Given the description of an element on the screen output the (x, y) to click on. 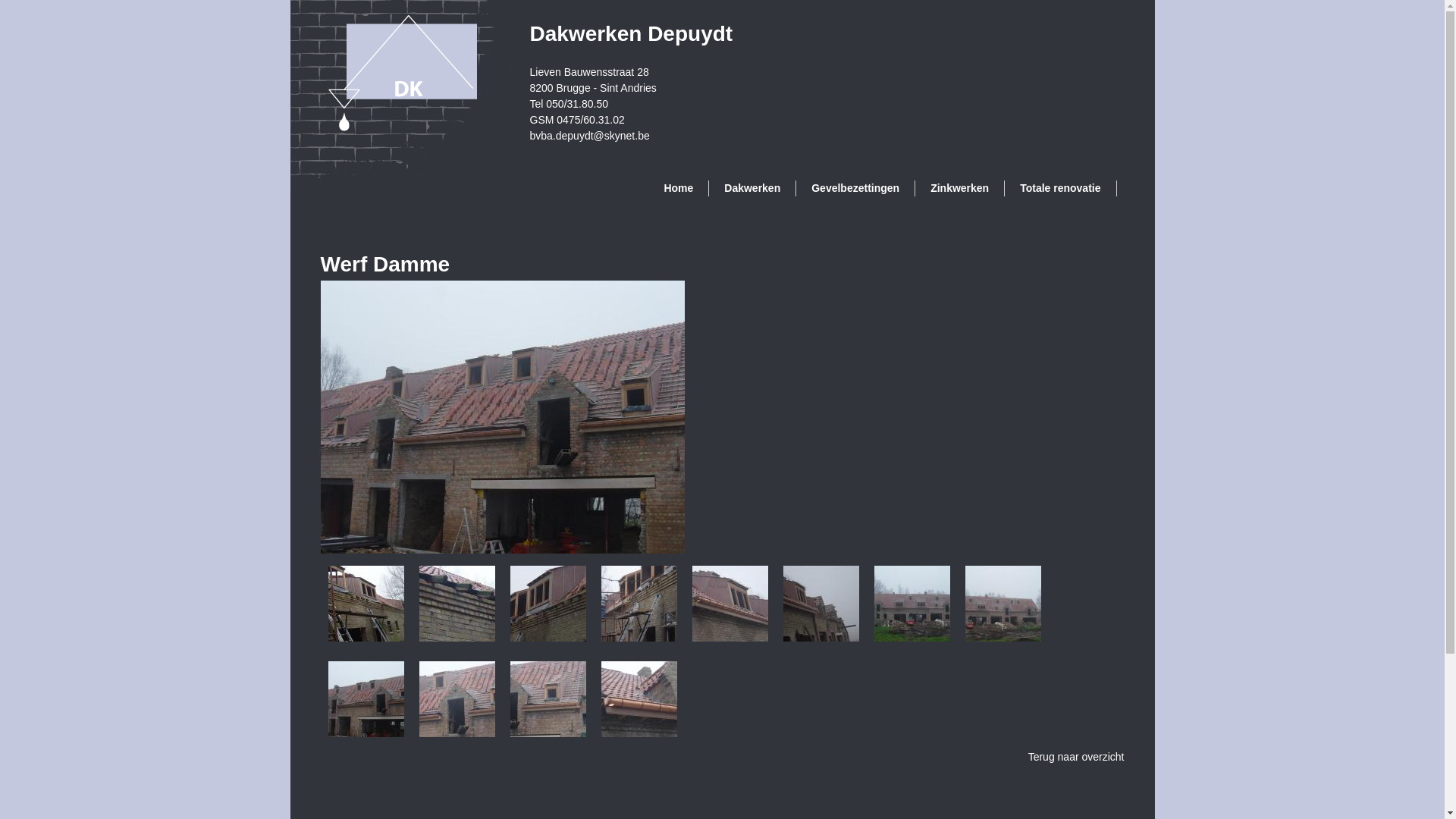
Gevelbezettingen Element type: text (855, 188)
bvba.depuydt@skynet.be Element type: text (589, 134)
Werf Damme Element type: hover (502, 548)
Zinkwerken Element type: text (959, 188)
Werf Damme Element type: hover (456, 732)
Werf Damme Element type: hover (547, 636)
Werf Damme Element type: hover (638, 732)
Werf Damme Element type: hover (365, 636)
Terug naar overzicht Element type: text (1076, 756)
Werf Damme Element type: hover (820, 636)
Werf Damme Element type: hover (456, 636)
Werf Damme Element type: hover (1002, 636)
Werf Damme Element type: hover (638, 636)
Home Element type: text (678, 188)
Totale renovatie Element type: text (1060, 188)
Werf Damme Element type: hover (911, 636)
Werf Damme Element type: hover (365, 732)
Werf Damme Element type: hover (729, 636)
Dakwerken Element type: text (752, 188)
Werf Damme Element type: hover (547, 732)
Overslaan en naar de inhoud gaan Element type: text (658, 0)
